Given the description of an element on the screen output the (x, y) to click on. 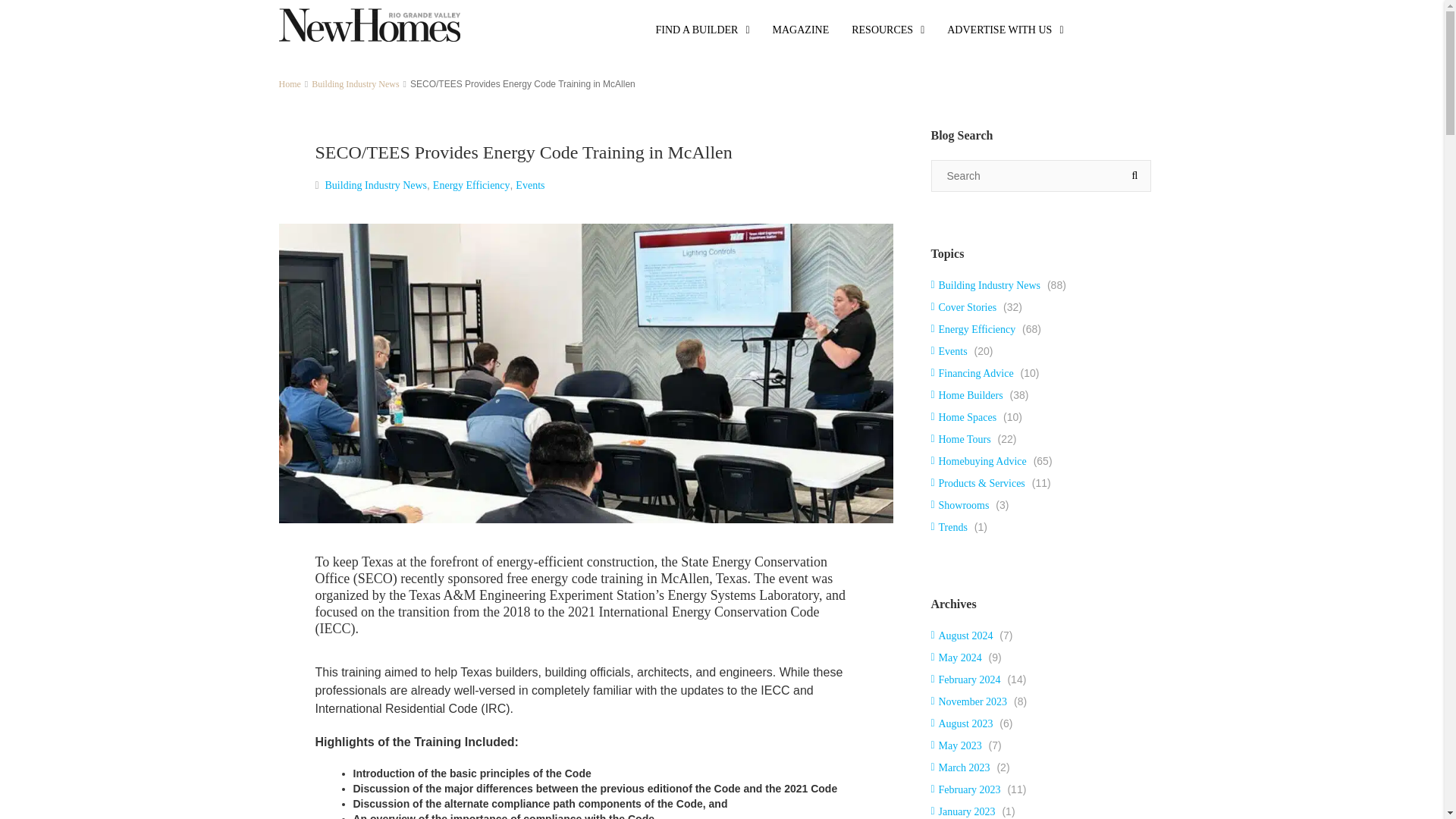
FIND A BUILDER (703, 30)
MAGAZINE (801, 30)
ADVERTISE WITH US (1005, 30)
RESOURCES (888, 30)
